Given the description of an element on the screen output the (x, y) to click on. 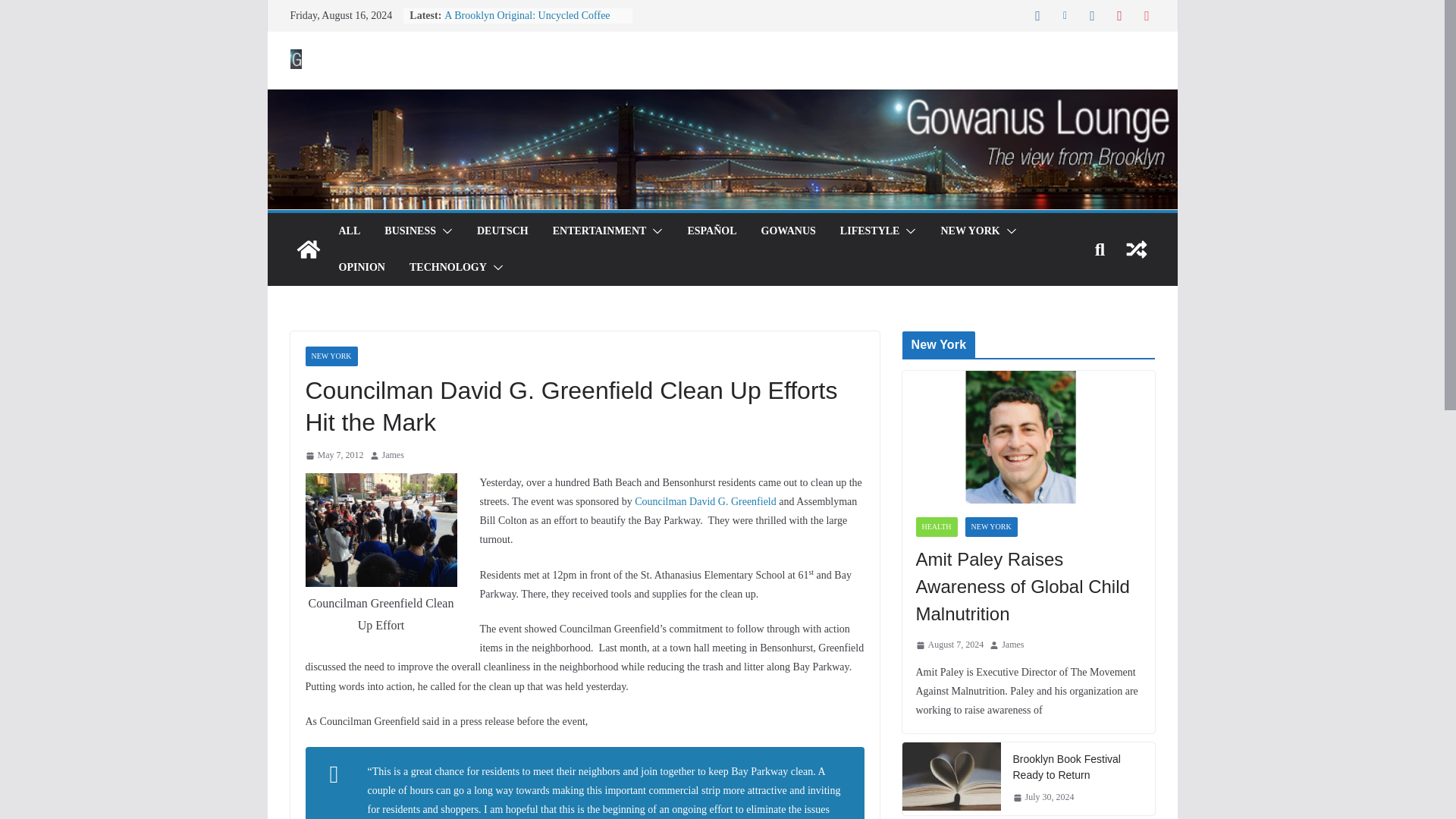
NEW YORK (969, 230)
OPINION (360, 267)
A Brooklyn Original: Uncycled Coffee Soap (527, 22)
Amit Paley Raises Awareness of Global Child Malnutrition (1028, 437)
James (392, 455)
BUSINESS (409, 230)
ENTERTAINMENT (599, 230)
View a random post (1136, 248)
Amit Paley Raises Awareness of Global Child Malnutrition (1028, 587)
James (392, 455)
